Given the description of an element on the screen output the (x, y) to click on. 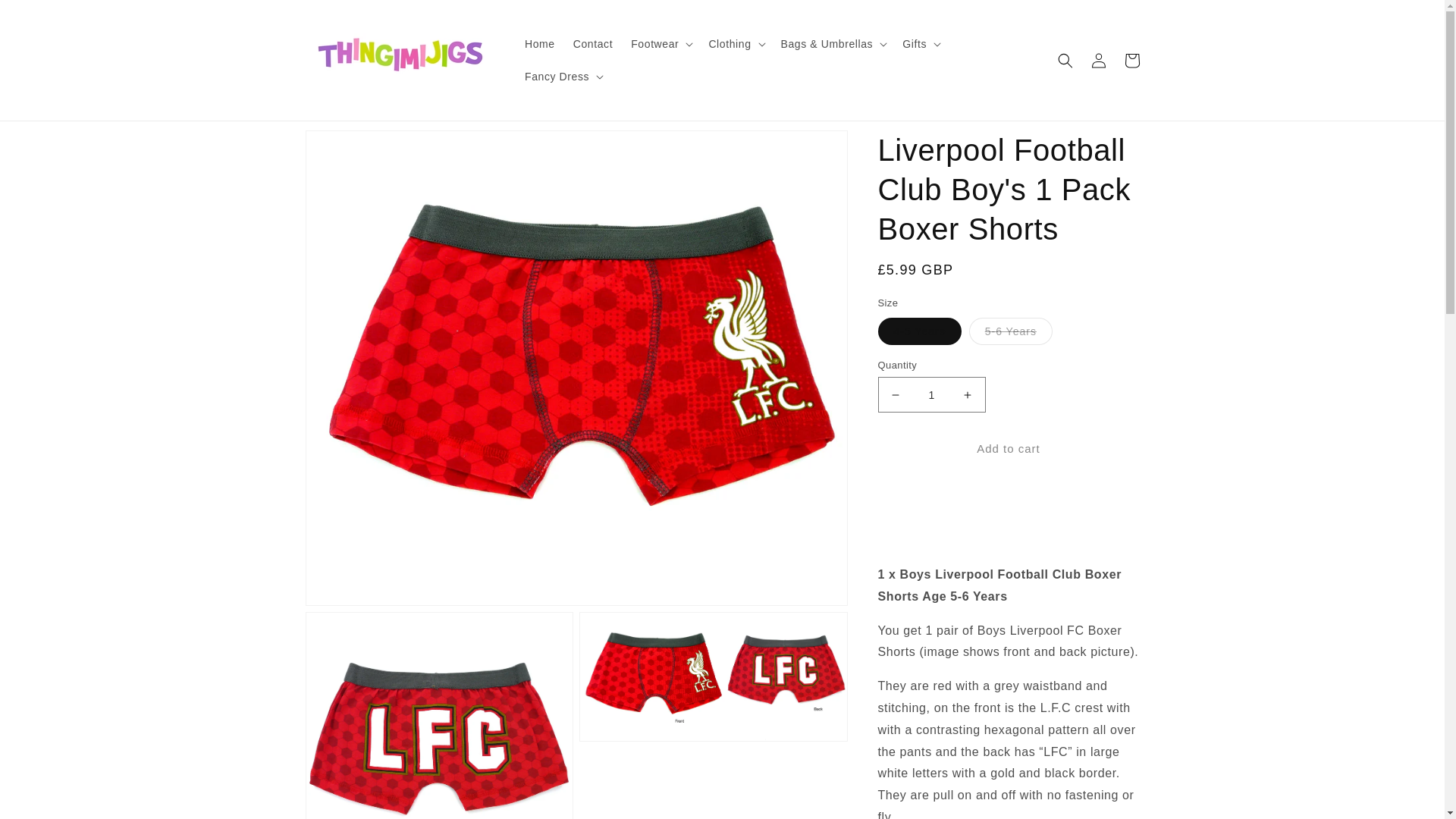
1 (931, 394)
Skip to content (45, 16)
